Given the description of an element on the screen output the (x, y) to click on. 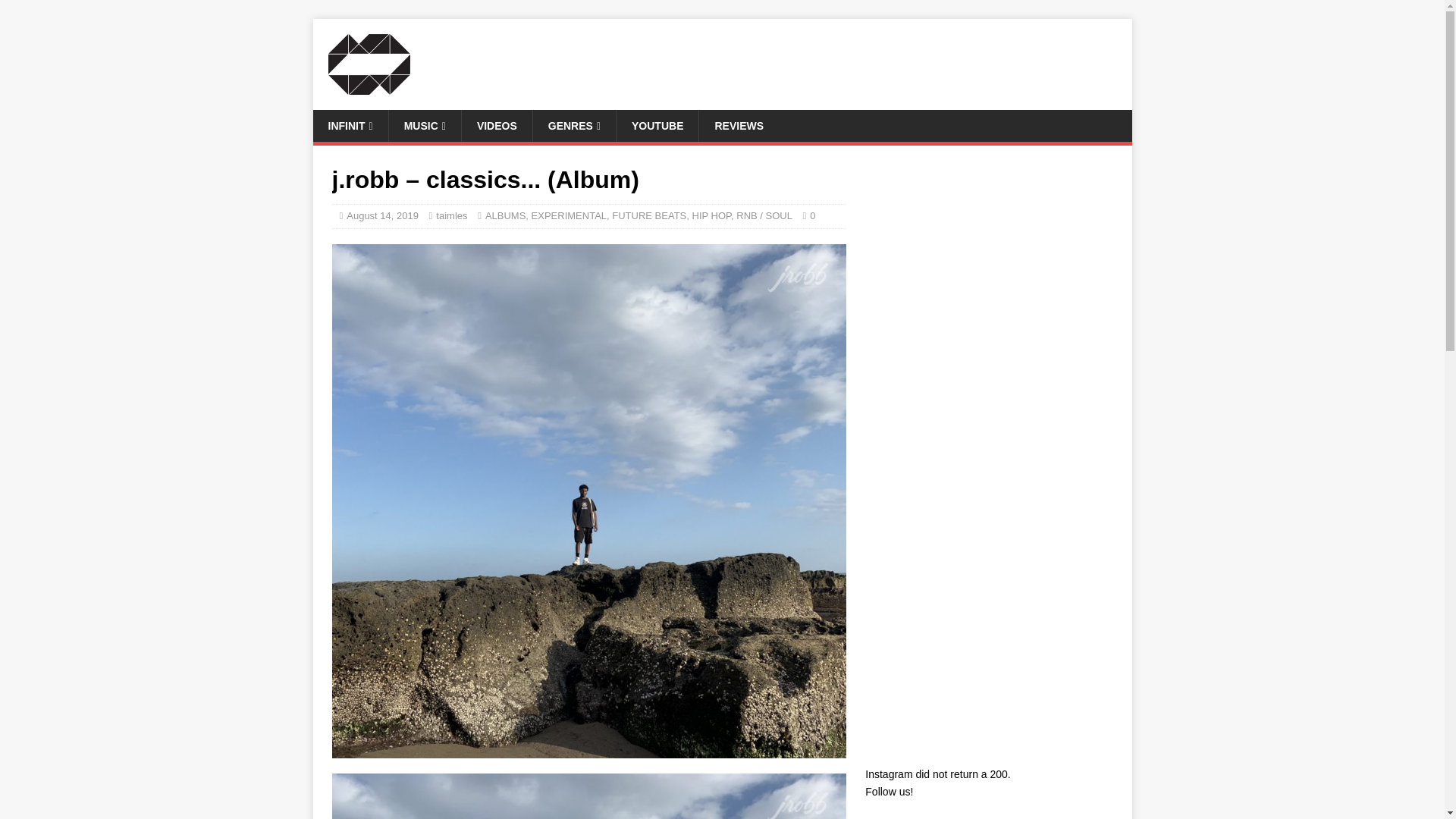
Advertisement (991, 270)
INFINIT (350, 125)
